Given the description of an element on the screen output the (x, y) to click on. 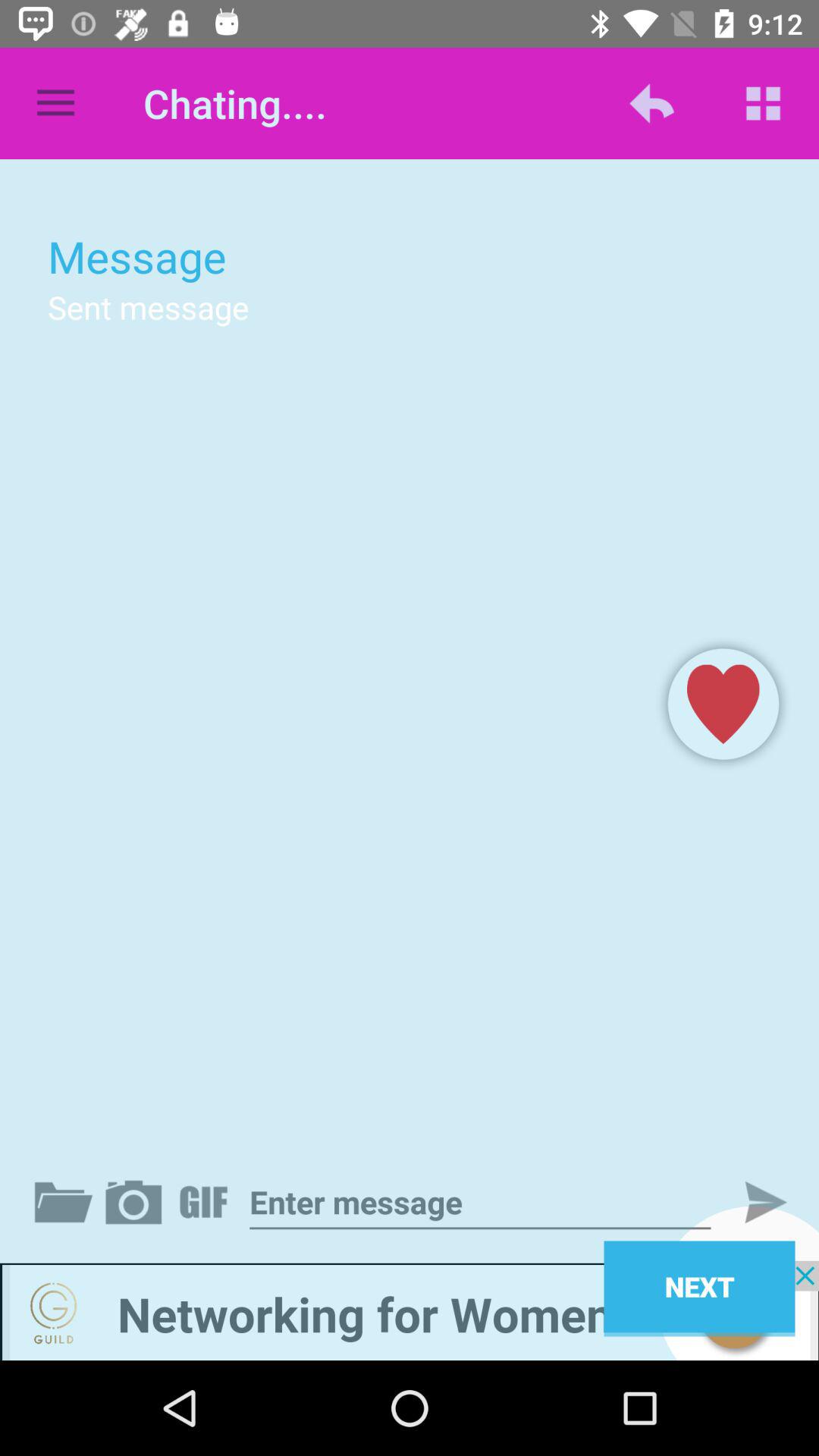
files icon (66, 1202)
